Given the description of an element on the screen output the (x, y) to click on. 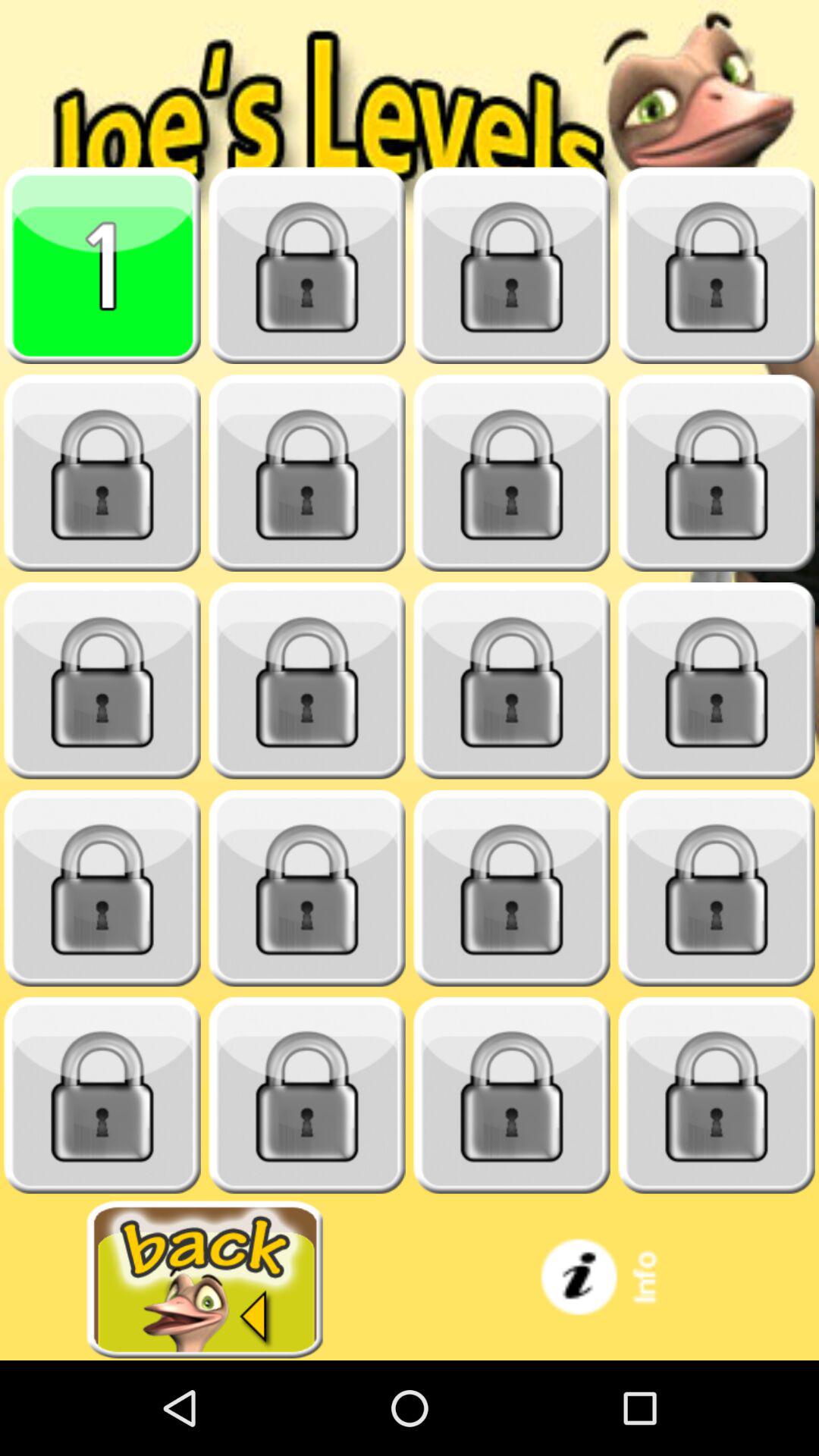
unlock level 16 (716, 887)
